Given the description of an element on the screen output the (x, y) to click on. 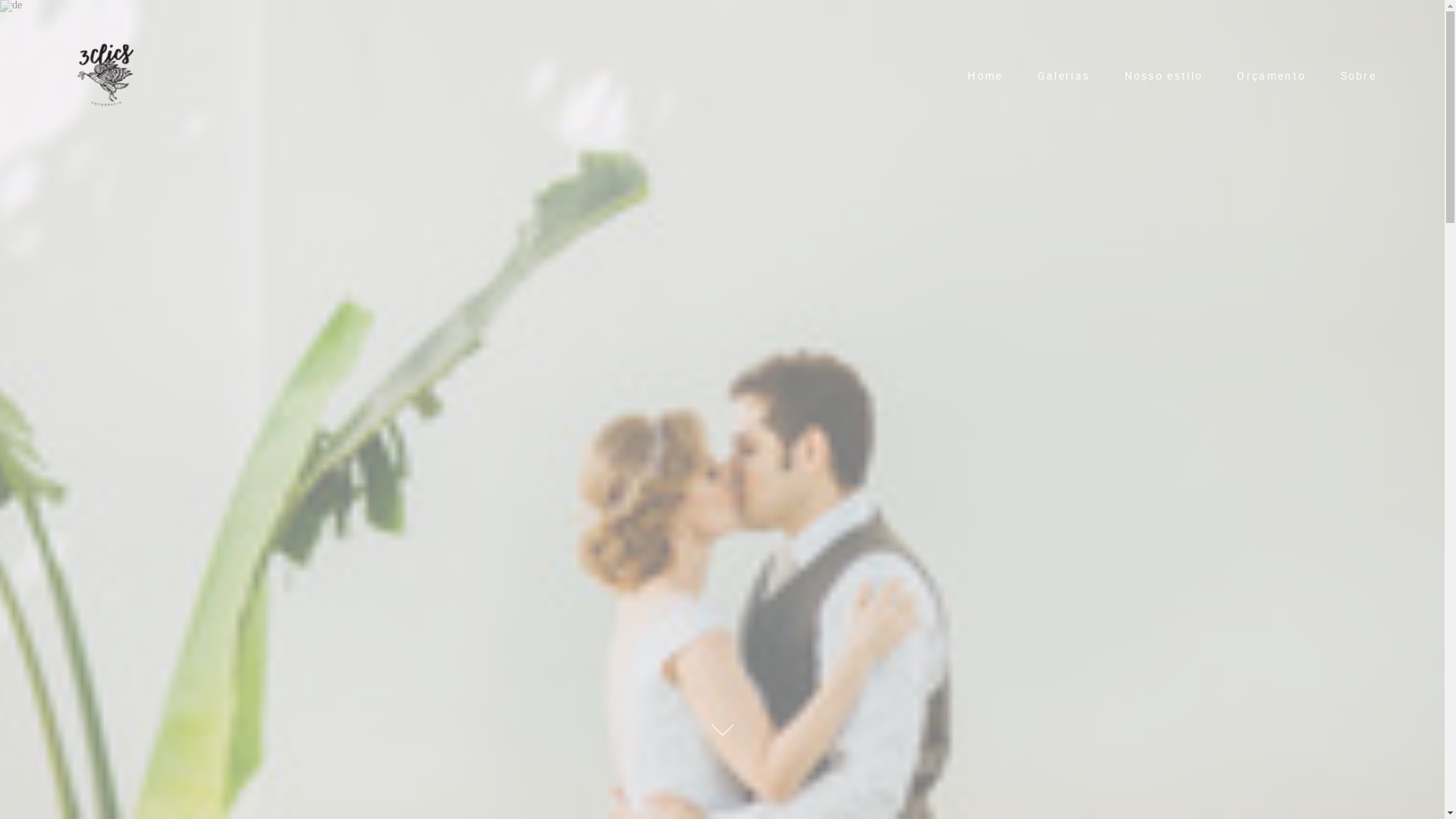
Sobre Element type: text (1358, 75)
Galerias Element type: text (1063, 75)
Nosso estilo Element type: text (1163, 75)
Home Element type: text (984, 75)
